Given the description of an element on the screen output the (x, y) to click on. 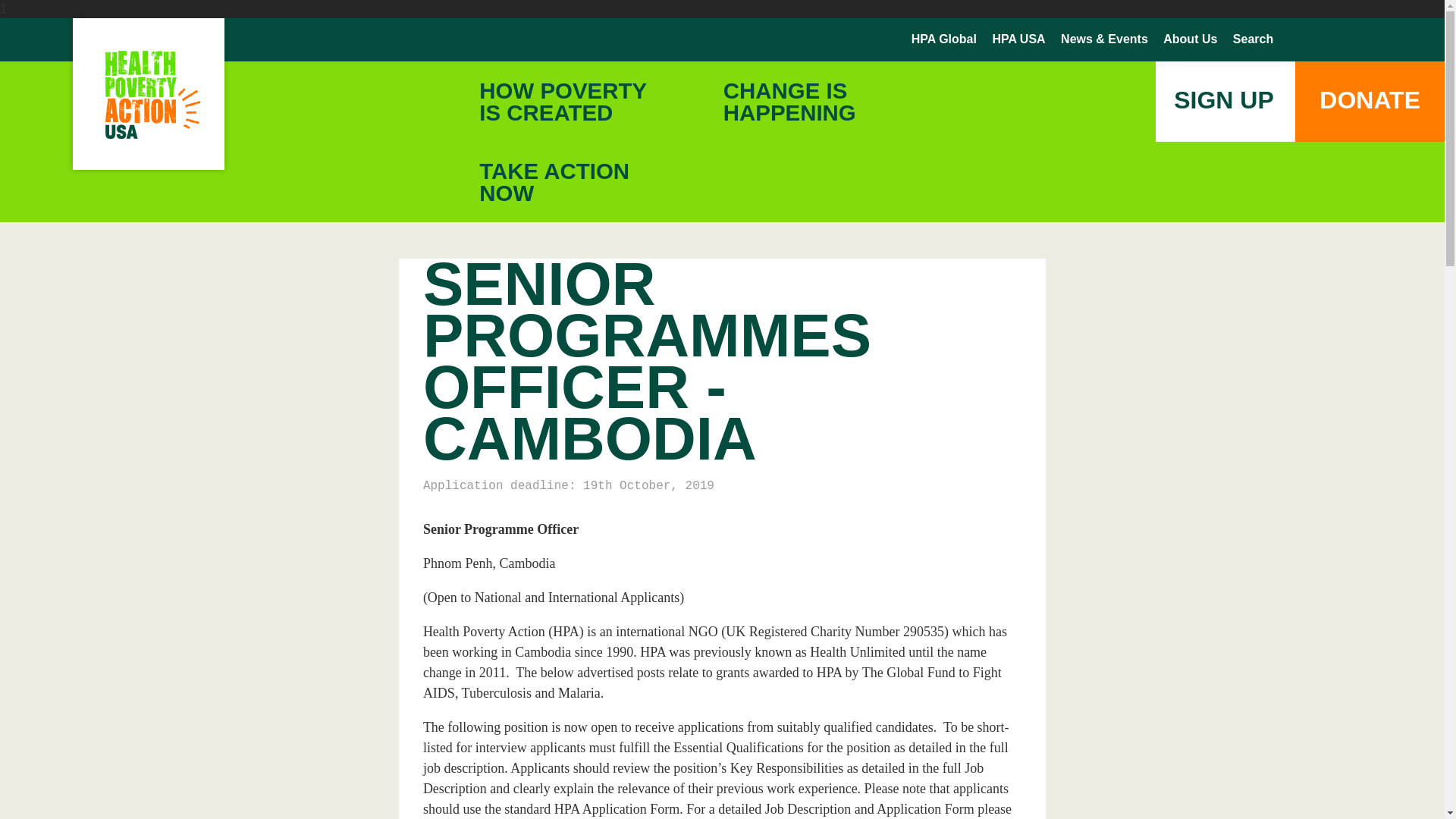
Twitter (1359, 40)
Twitter (1358, 40)
Facebook (1291, 40)
Instagram (1399, 40)
HPA USA (553, 181)
Youtube (1018, 38)
DONATE (1325, 40)
Facebook (1369, 101)
